Given the description of an element on the screen output the (x, y) to click on. 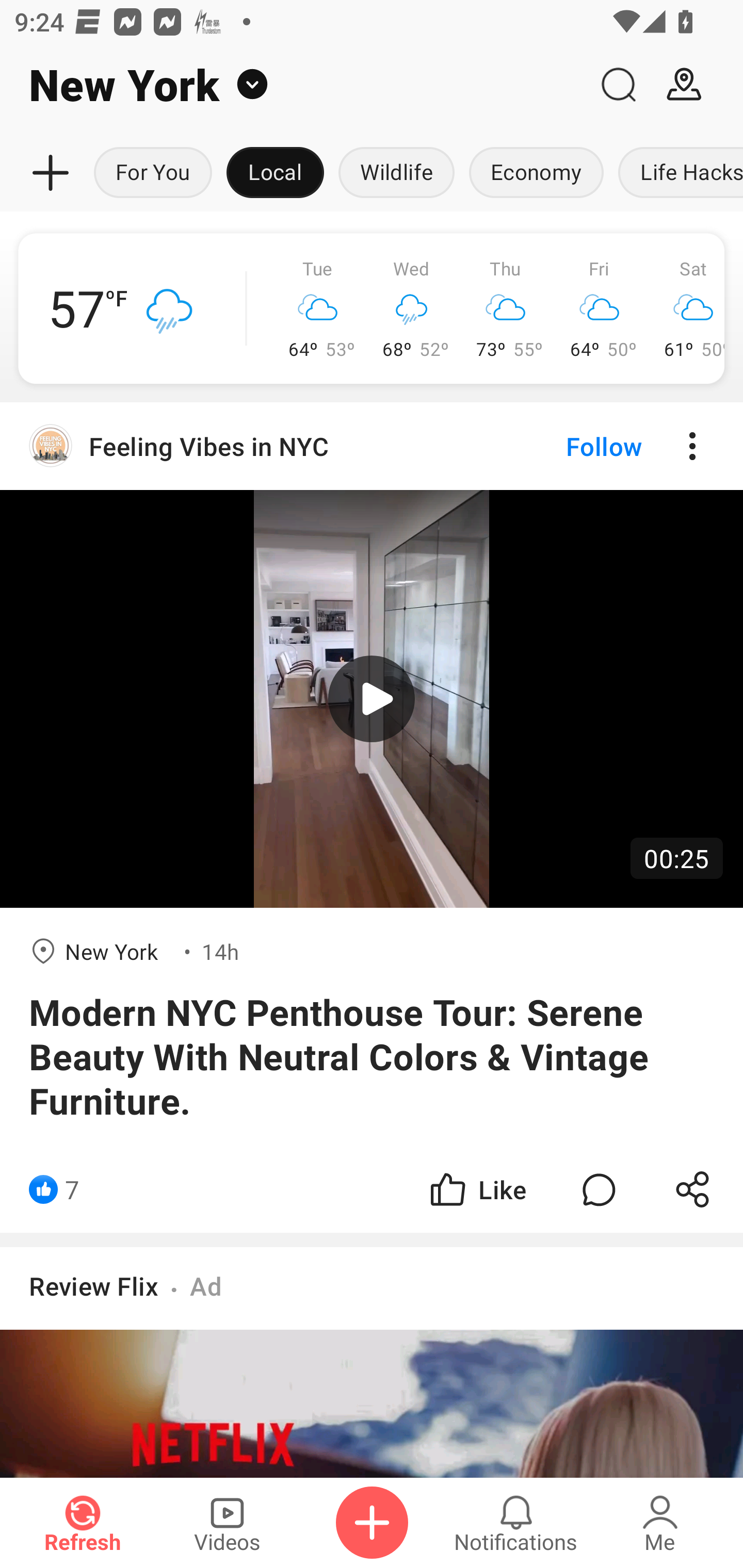
New York (292, 84)
For You (152, 172)
Local (275, 172)
Wildlife (396, 172)
Economy (536, 172)
Life Hacks (676, 172)
Tue 64º 53º (317, 307)
Wed 68º 52º (411, 307)
Thu 73º 55º (505, 307)
Fri 64º 50º (599, 307)
Sat 61º 50º (685, 307)
Feeling Vibes in NYC Follow (371, 445)
Follow (569, 445)
7 (72, 1189)
Like (476, 1189)
Review Flix (93, 1285)
Videos (227, 1522)
Notifications (516, 1522)
Me (659, 1522)
